Given the description of an element on the screen output the (x, y) to click on. 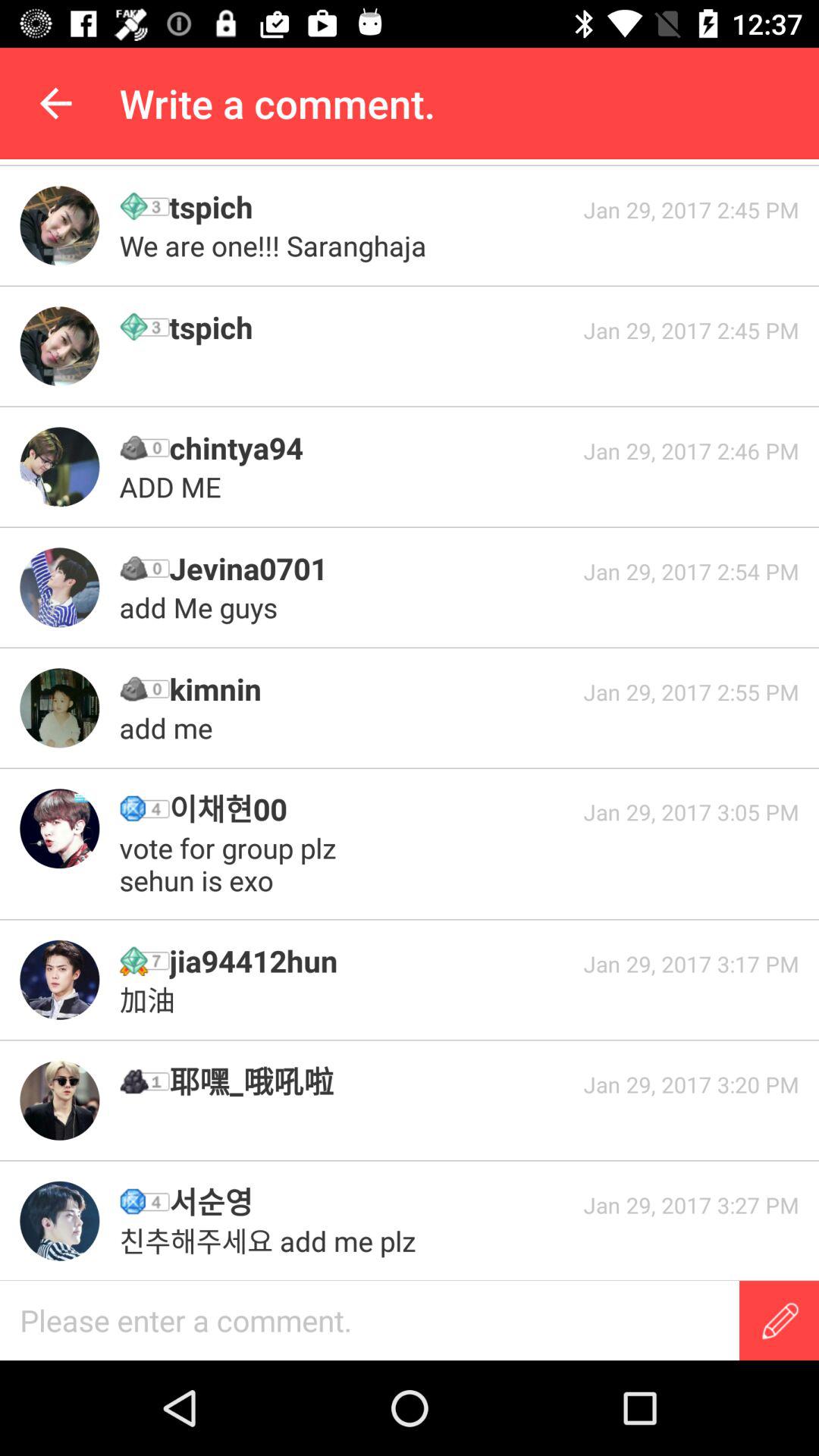
go to commentators profile (59, 225)
